Given the description of an element on the screen output the (x, y) to click on. 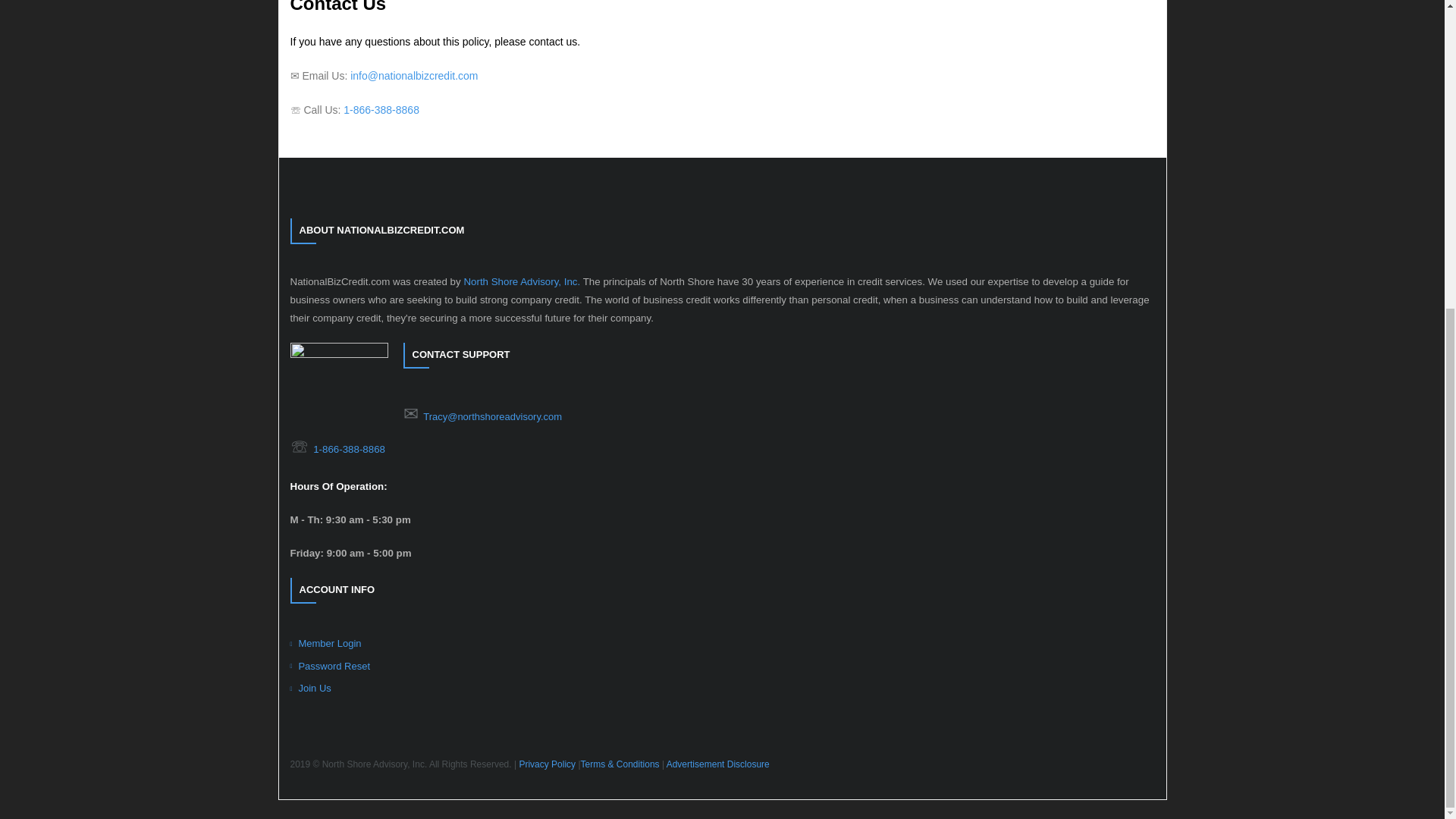
Password Reset (329, 665)
Privacy Policy (546, 764)
1-866-388-8868 (381, 110)
Member Login (325, 642)
1-866-388-8868 (349, 449)
Join Us (309, 687)
Advertisement Disclosure (718, 764)
North Shore Advisory, Inc. (521, 281)
